Given the description of an element on the screen output the (x, y) to click on. 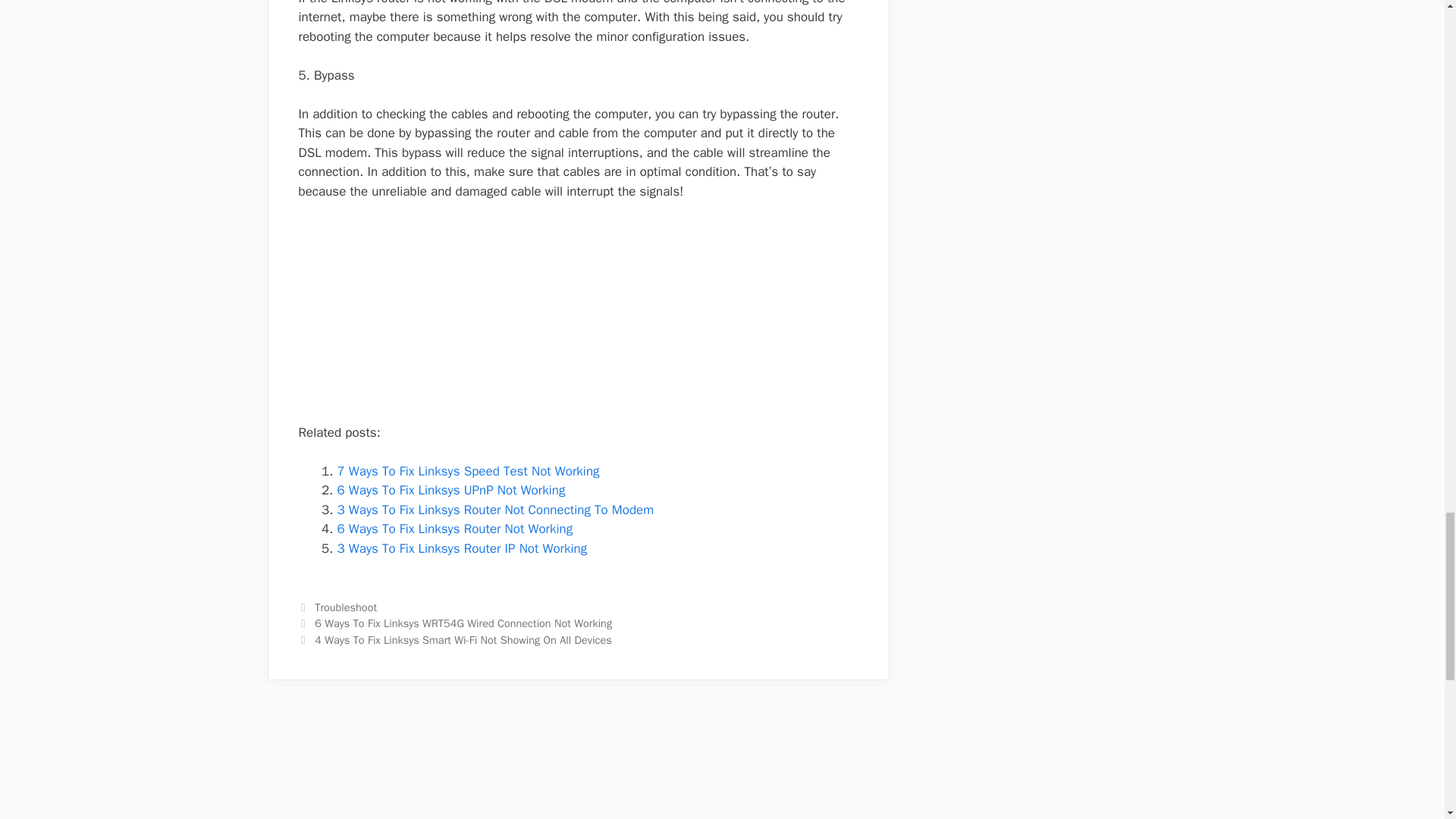
6 Ways To Fix Linksys Router Not Working (454, 528)
6 Ways To Fix Linksys UPnP Not Working (450, 489)
6 Ways To Fix Linksys UPnP Not Working (450, 489)
3 Ways To Fix Linksys Router Not Connecting To Modem (494, 509)
3 Ways To Fix Linksys Router IP Not Working (461, 548)
7 Ways To Fix Linksys Speed Test Not Working (467, 471)
Previous (455, 622)
7 Ways To Fix Linksys Speed Test Not Working (467, 471)
Next (454, 640)
3 Ways To Fix Linksys Router Not Connecting To Modem (494, 509)
